Given the description of an element on the screen output the (x, y) to click on. 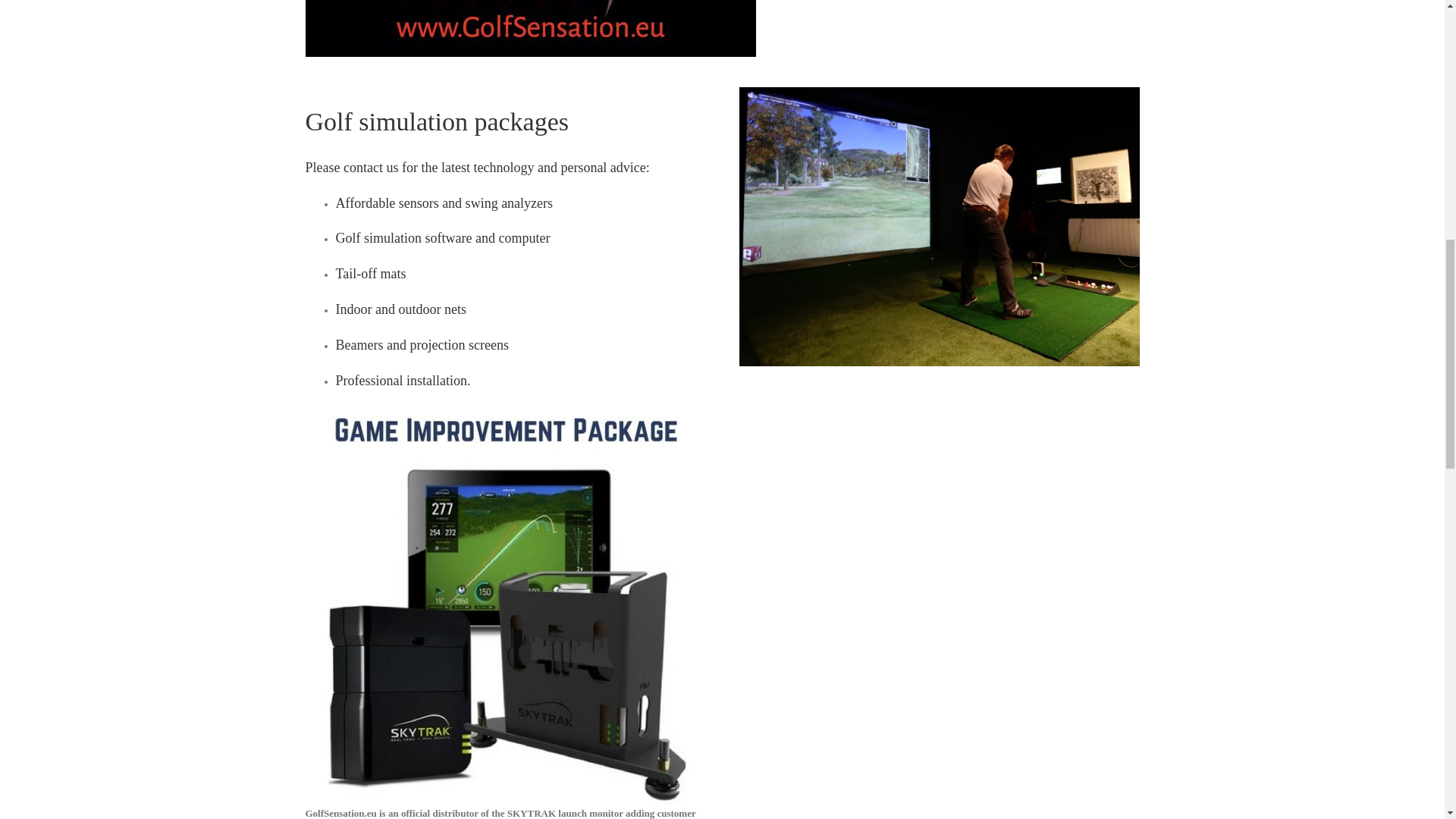
GolfSensation (529, 28)
YouTube video player (965, 502)
